Given the description of an element on the screen output the (x, y) to click on. 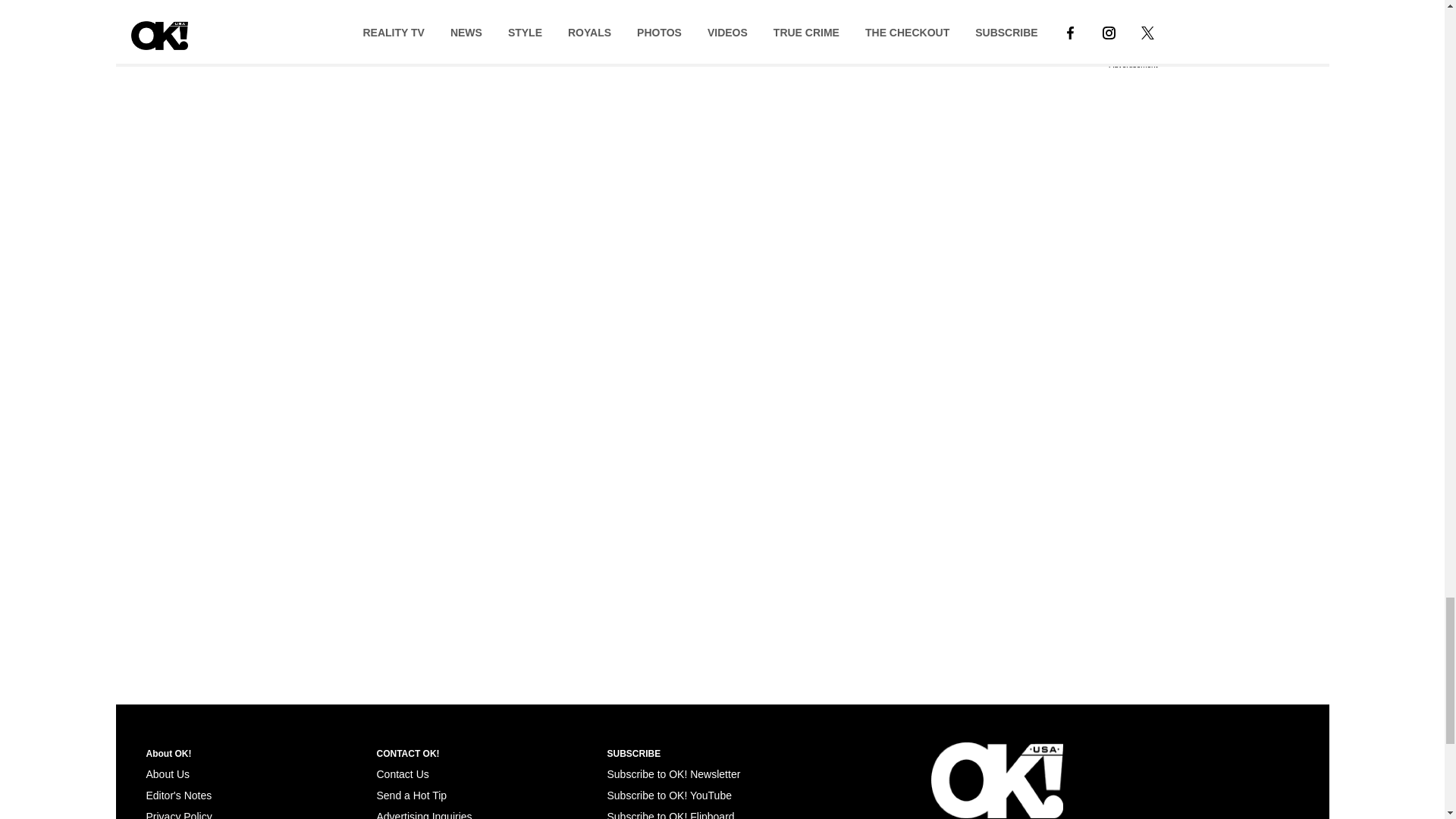
Send a Hot Tip (410, 795)
Advertising Inquiries (423, 814)
Contact Us (401, 774)
About Us (167, 774)
Editor's Notes (178, 795)
Privacy Policy (178, 814)
